Given the description of an element on the screen output the (x, y) to click on. 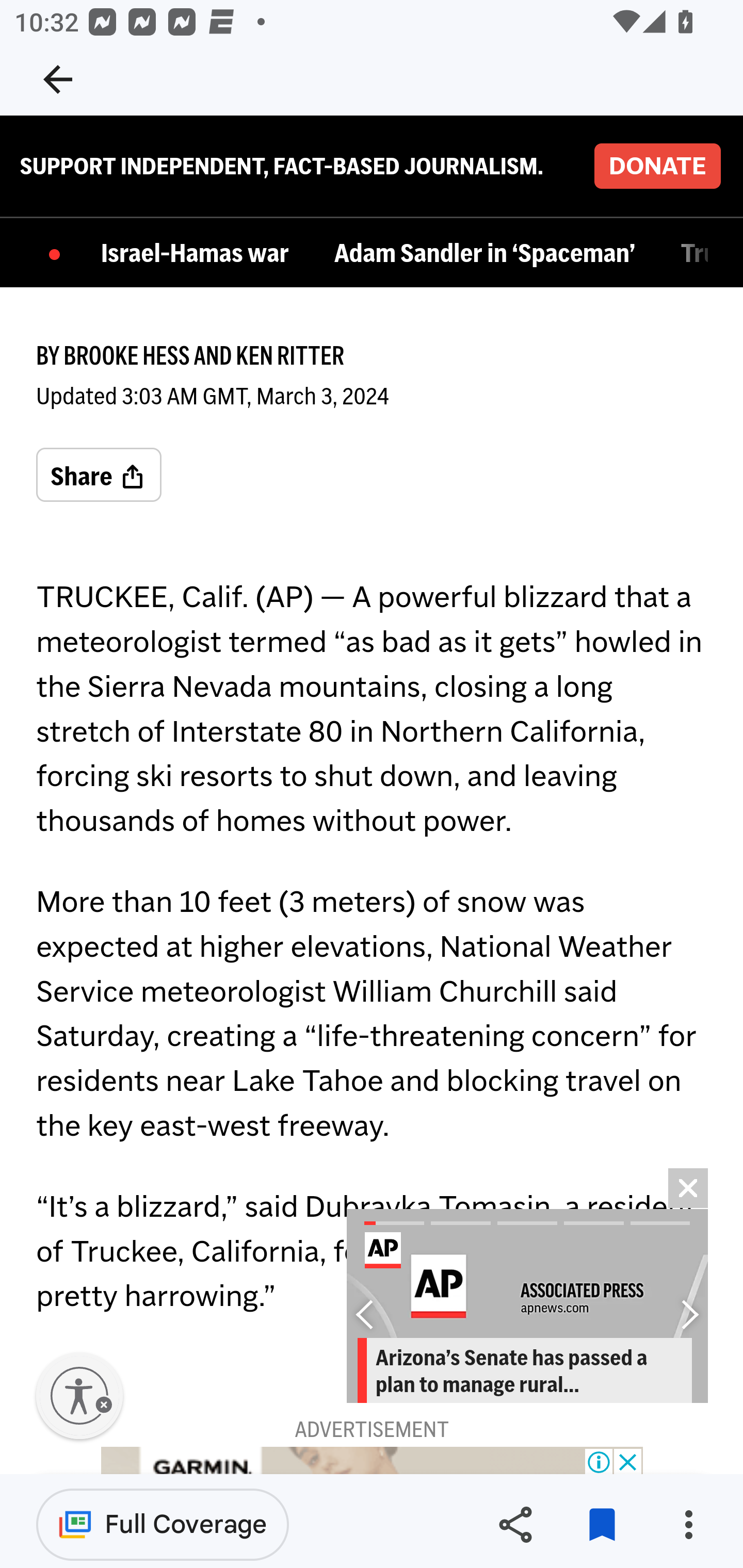
Navigate up (57, 79)
DONATE (657, 167)
Israel-Hamas war (200, 254)
Adam Sandler in ‘Spaceman’ (489, 254)
Share (99, 476)
Enable accessibility (79, 1396)
Share (514, 1524)
Remove from saved stories (601, 1524)
More options (688, 1524)
Full Coverage (162, 1524)
